Given the description of an element on the screen output the (x, y) to click on. 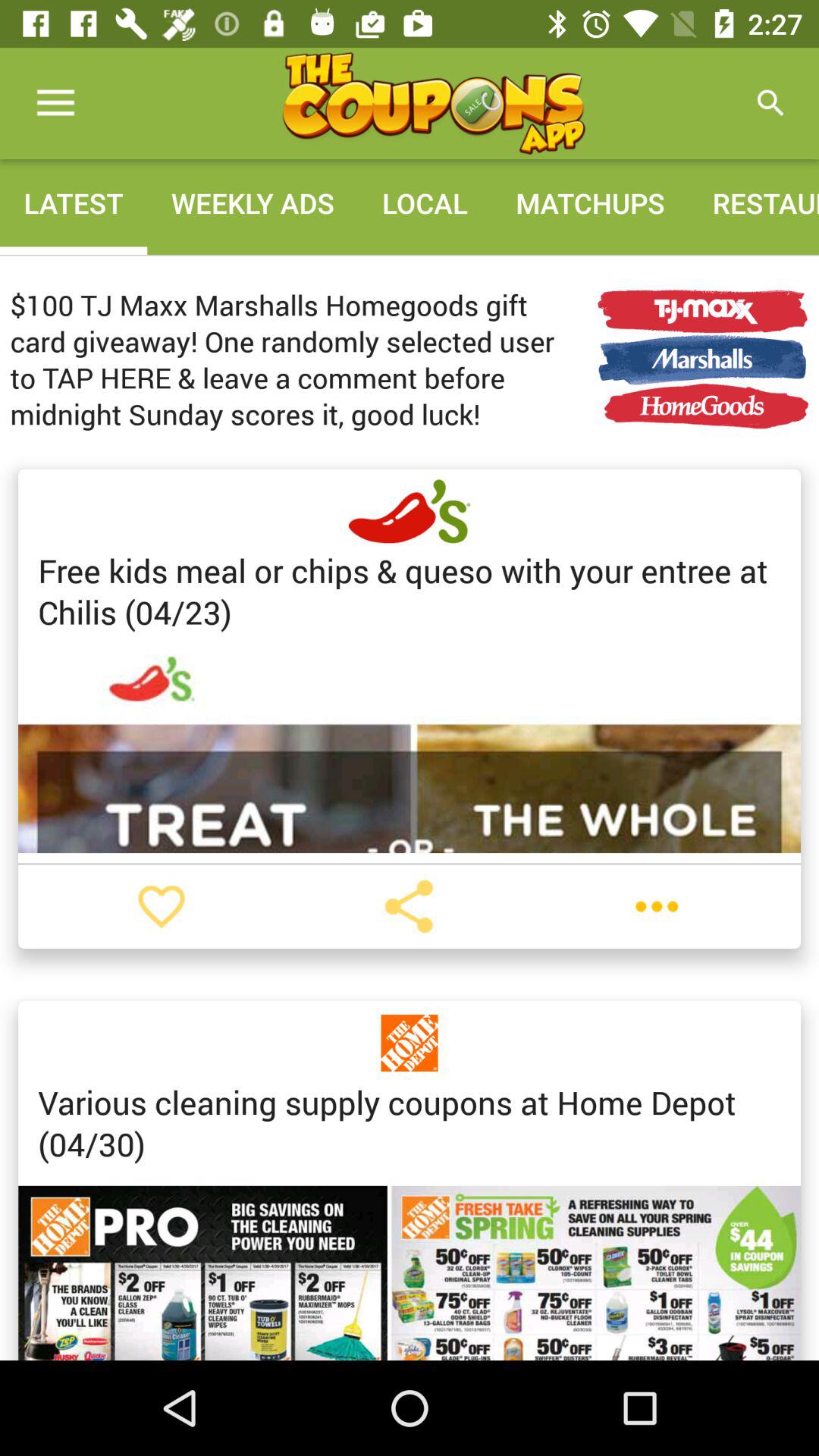
share the article (408, 906)
